Given the description of an element on the screen output the (x, y) to click on. 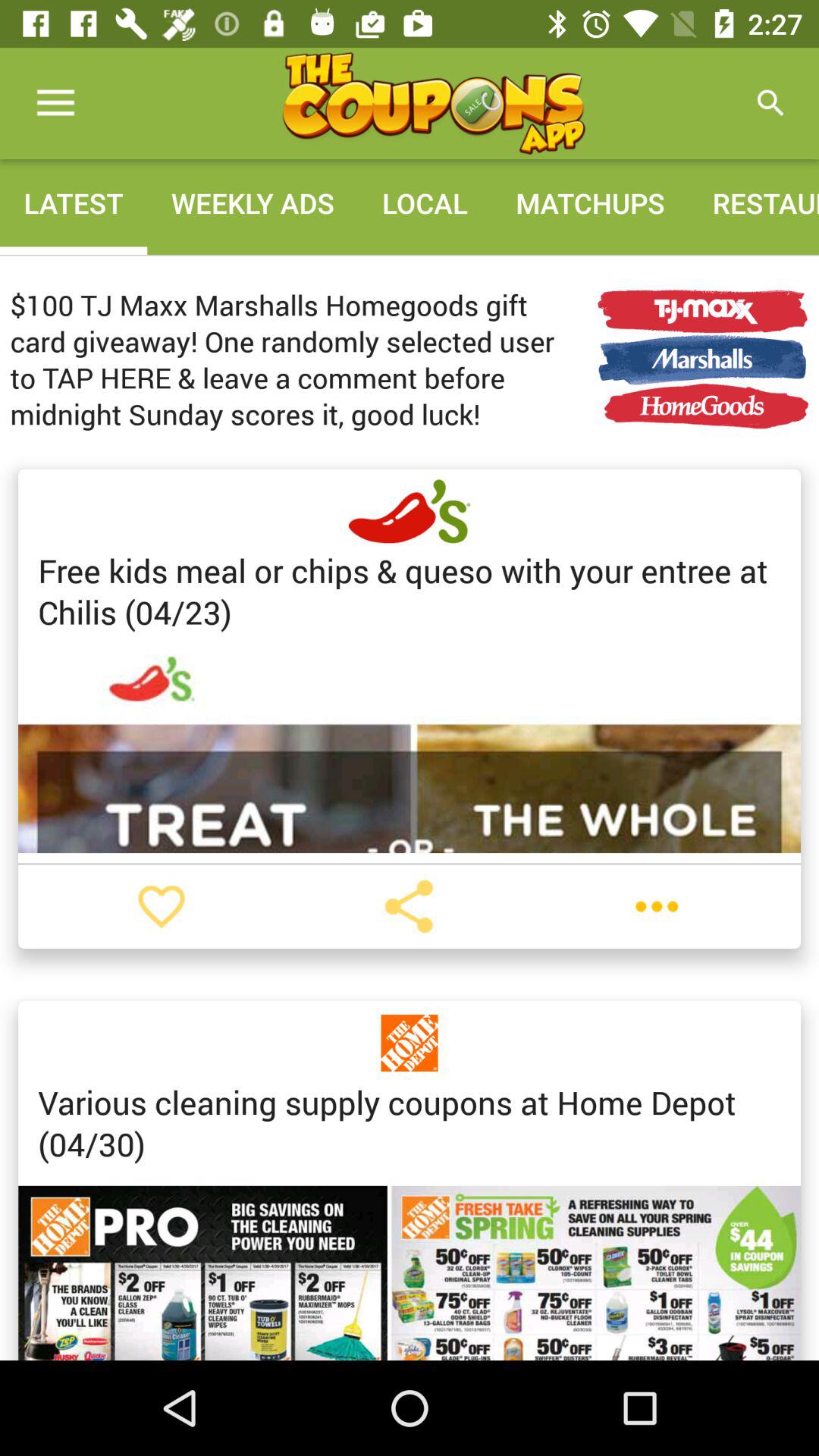
share the article (408, 906)
